Given the description of an element on the screen output the (x, y) to click on. 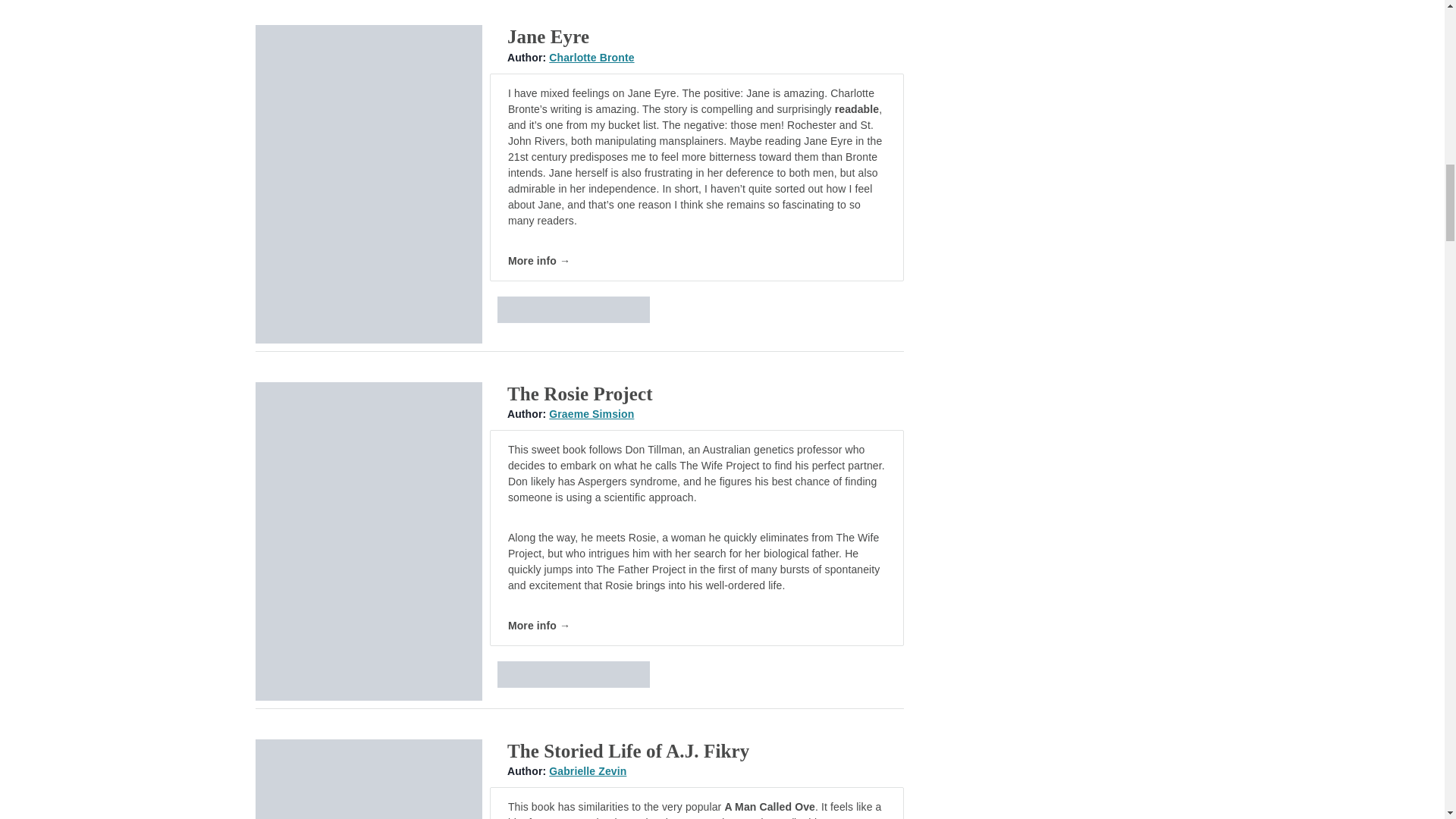
readable (856, 109)
